Given the description of an element on the screen output the (x, y) to click on. 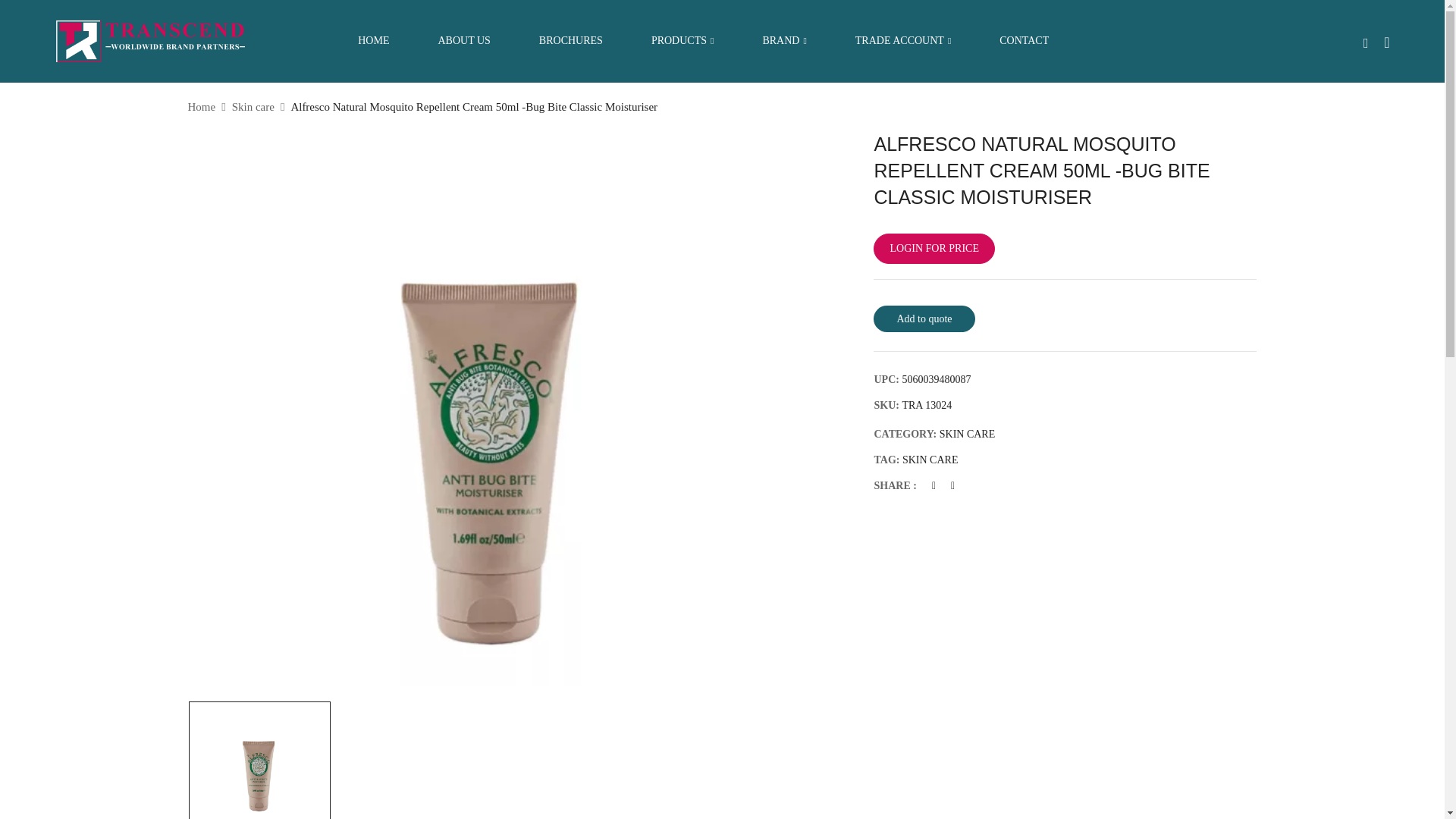
HOME (373, 40)
ABOUT US (463, 40)
